Given the description of an element on the screen output the (x, y) to click on. 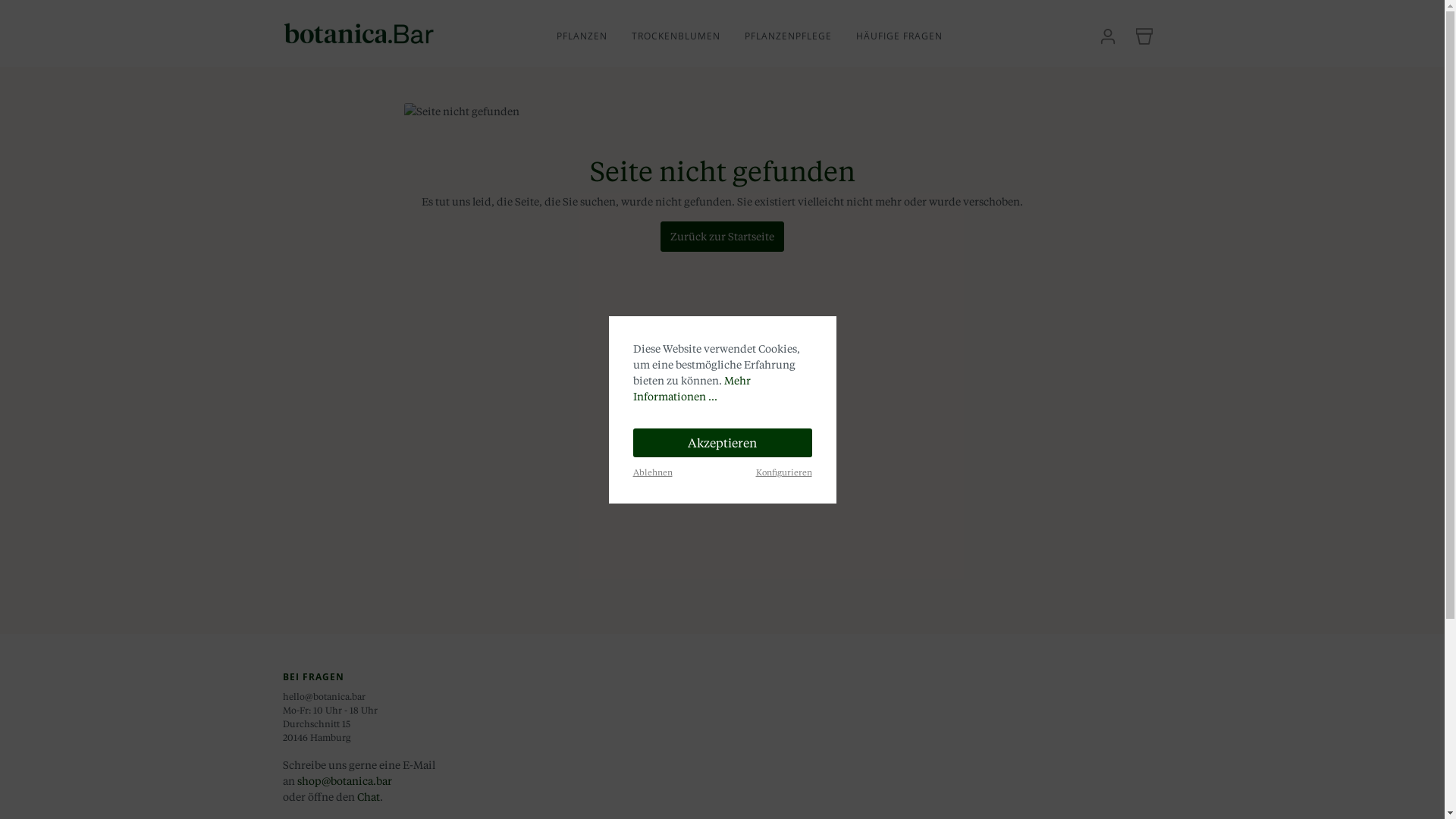
TROCKENBLUMEN Element type: text (687, 38)
Zur Startseite wechseln Element type: hover (357, 33)
shop@botanica.bar Element type: text (344, 780)
PFLANZENPFLEGE Element type: text (800, 38)
Akzeptieren Element type: text (721, 441)
PFLANZEN Element type: text (593, 38)
Ablehnen Element type: text (651, 470)
Konfigurieren Element type: text (783, 471)
Mein Konto Element type: hover (1106, 36)
Ablehnen Element type: text (651, 471)
Warenkorb Element type: hover (1143, 36)
Mehr Informationen ... Element type: text (690, 387)
Chat Element type: text (367, 796)
